Given the description of an element on the screen output the (x, y) to click on. 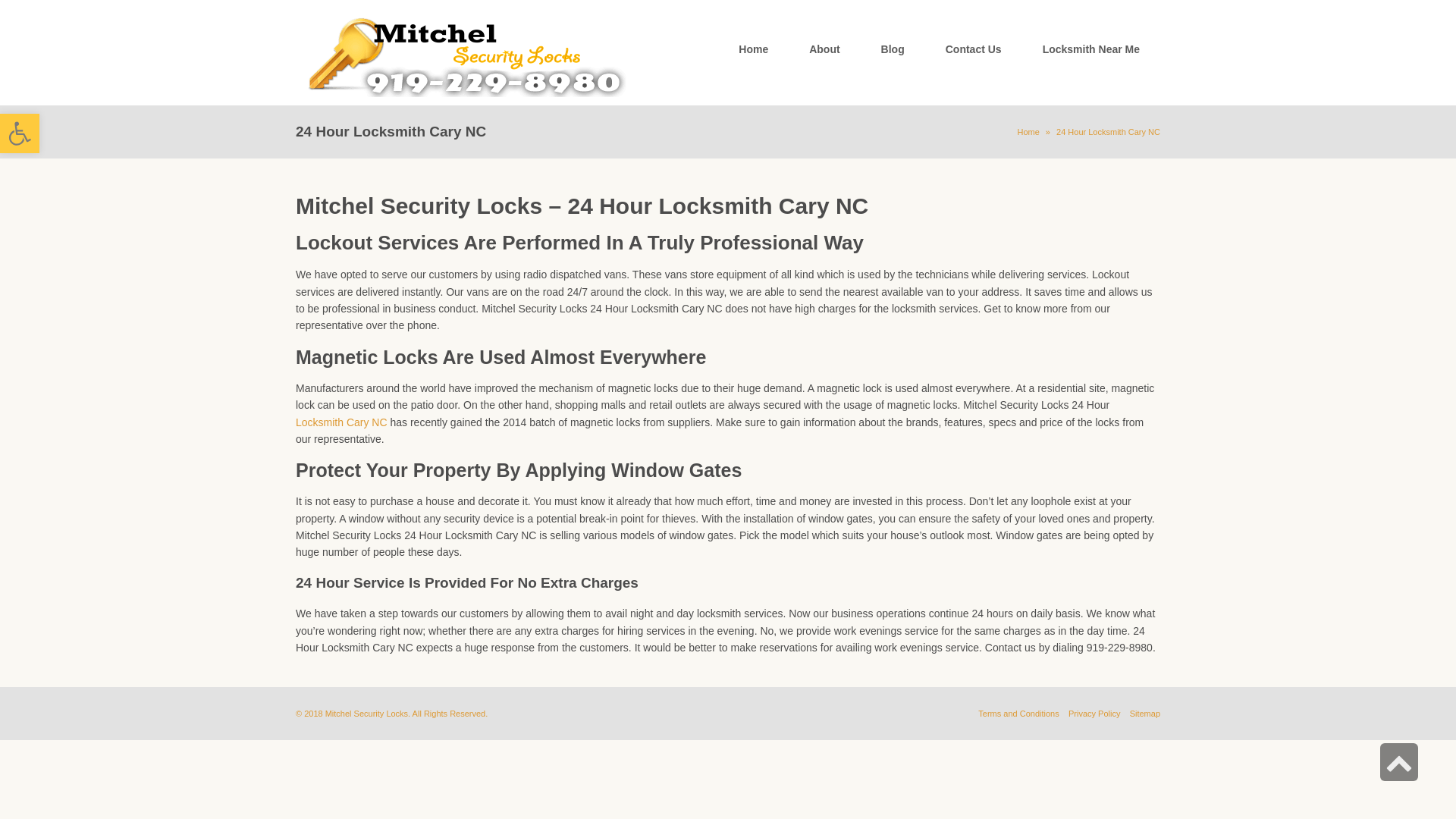
Terms and Conditions Element type: text (1018, 713)
Sitemap Element type: text (1144, 713)
Open toolbar
Accessibility Tools Element type: text (19, 133)
Contact Us Element type: text (973, 49)
Locksmith Cary NC Element type: text (341, 422)
Home Element type: text (1027, 131)
Privacy Policy Element type: text (1094, 713)
Blog Element type: text (892, 49)
Locksmith Near Me Element type: text (1091, 49)
About Element type: text (823, 49)
Home Element type: text (753, 49)
Scroll to top Element type: text (1399, 762)
